Given the description of an element on the screen output the (x, y) to click on. 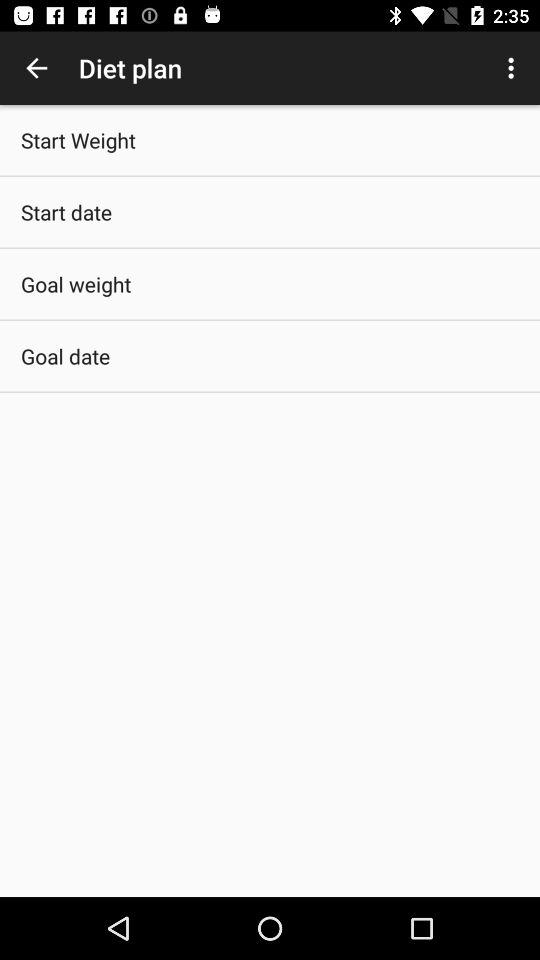
select the icon on the left (65, 355)
